Given the description of an element on the screen output the (x, y) to click on. 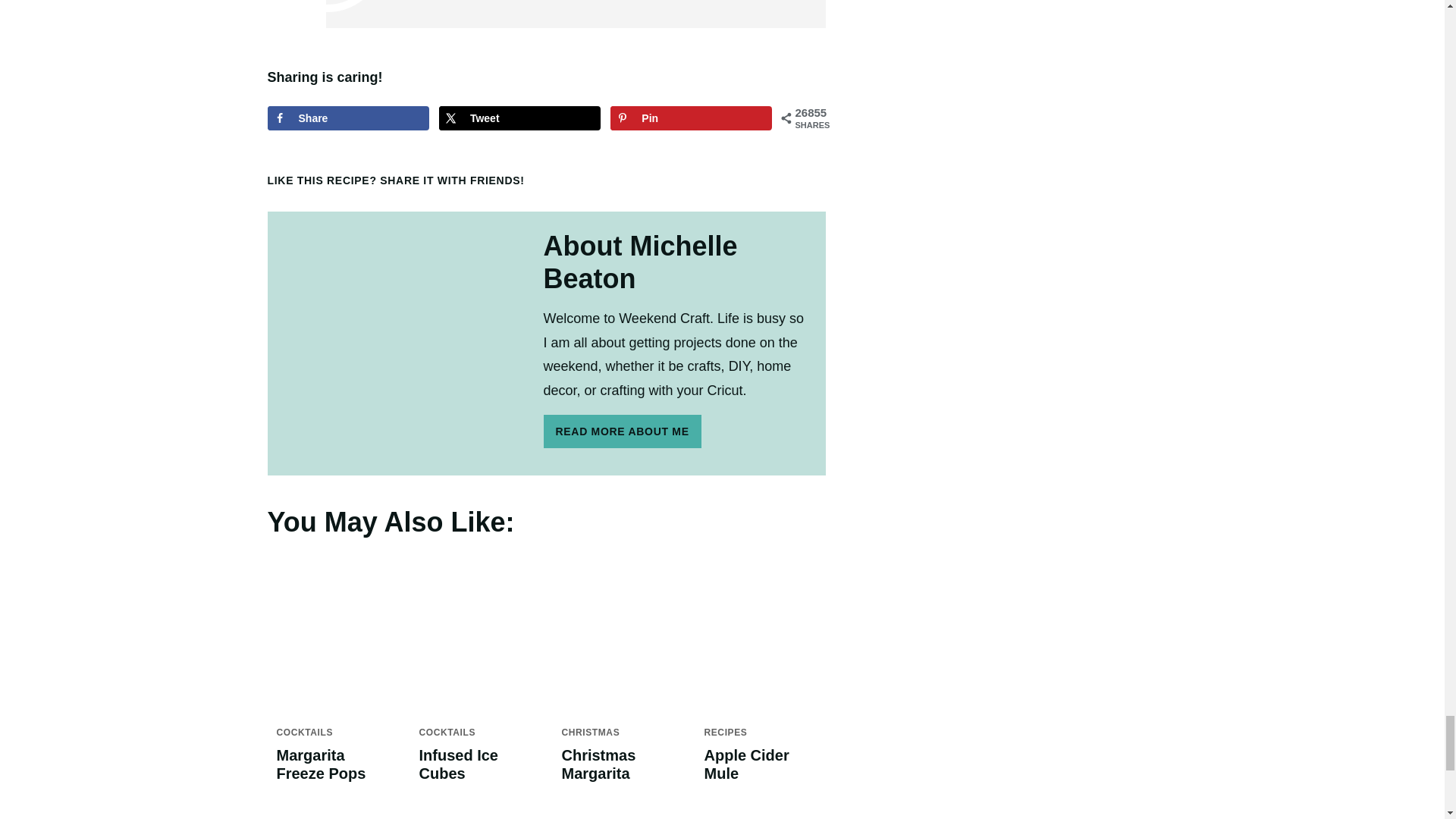
Share on Pinterest (638, 178)
Share on X (519, 118)
Save to Pinterest (690, 118)
Share on Yummly (766, 178)
Share via Email (808, 178)
Share on Facebook (347, 118)
Share on Facebook (680, 178)
Share on Twitter (722, 178)
